Given the description of an element on the screen output the (x, y) to click on. 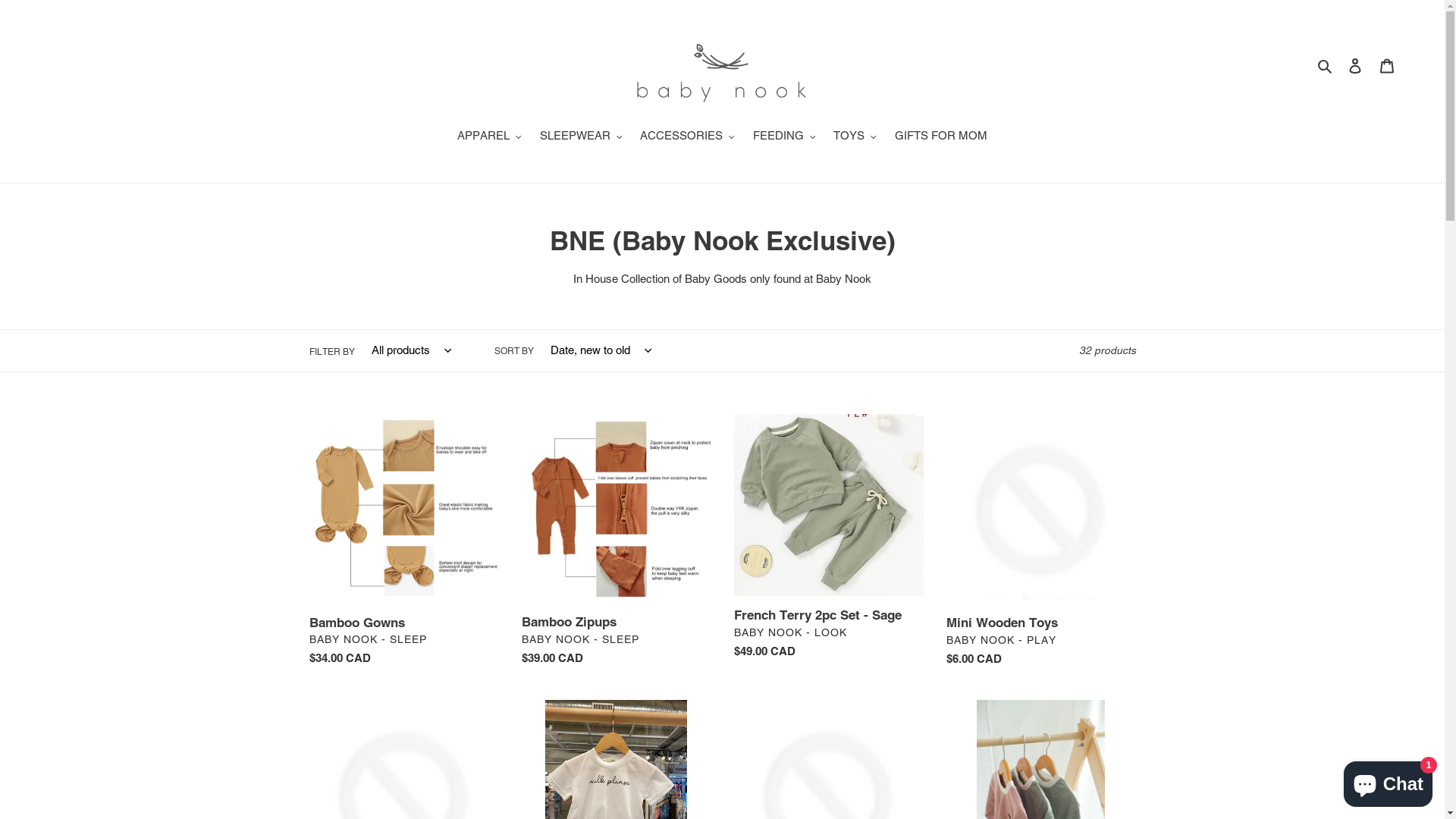
Cart Element type: text (1386, 65)
French Terry 2pc Set - Sage Element type: text (828, 540)
SLEEPWEAR Element type: text (581, 137)
APPAREL Element type: text (489, 137)
Search Element type: text (1325, 65)
FEEDING Element type: text (784, 137)
Bamboo Gowns Element type: text (403, 543)
GIFTS FOR MOM Element type: text (940, 137)
Mini Wooden Toys Element type: text (1040, 543)
ACCESSORIES Element type: text (687, 137)
Bamboo Zipups Element type: text (616, 543)
TOYS Element type: text (854, 137)
Shopify online store chat Element type: hover (1388, 780)
Log in Element type: text (1355, 65)
